Given the description of an element on the screen output the (x, y) to click on. 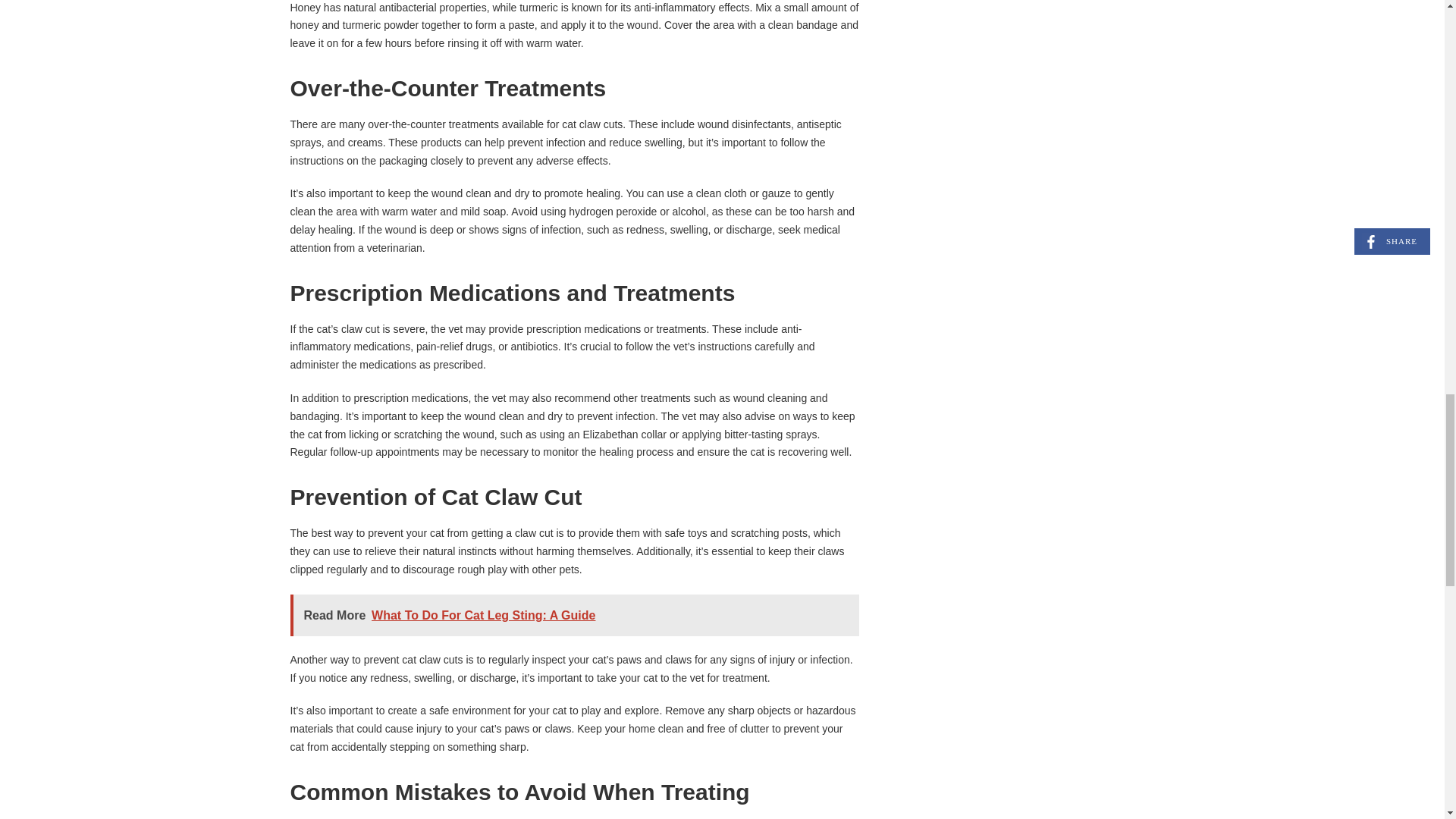
Read More  What To Do For Cat Leg Sting: A Guide (574, 615)
